Given the description of an element on the screen output the (x, y) to click on. 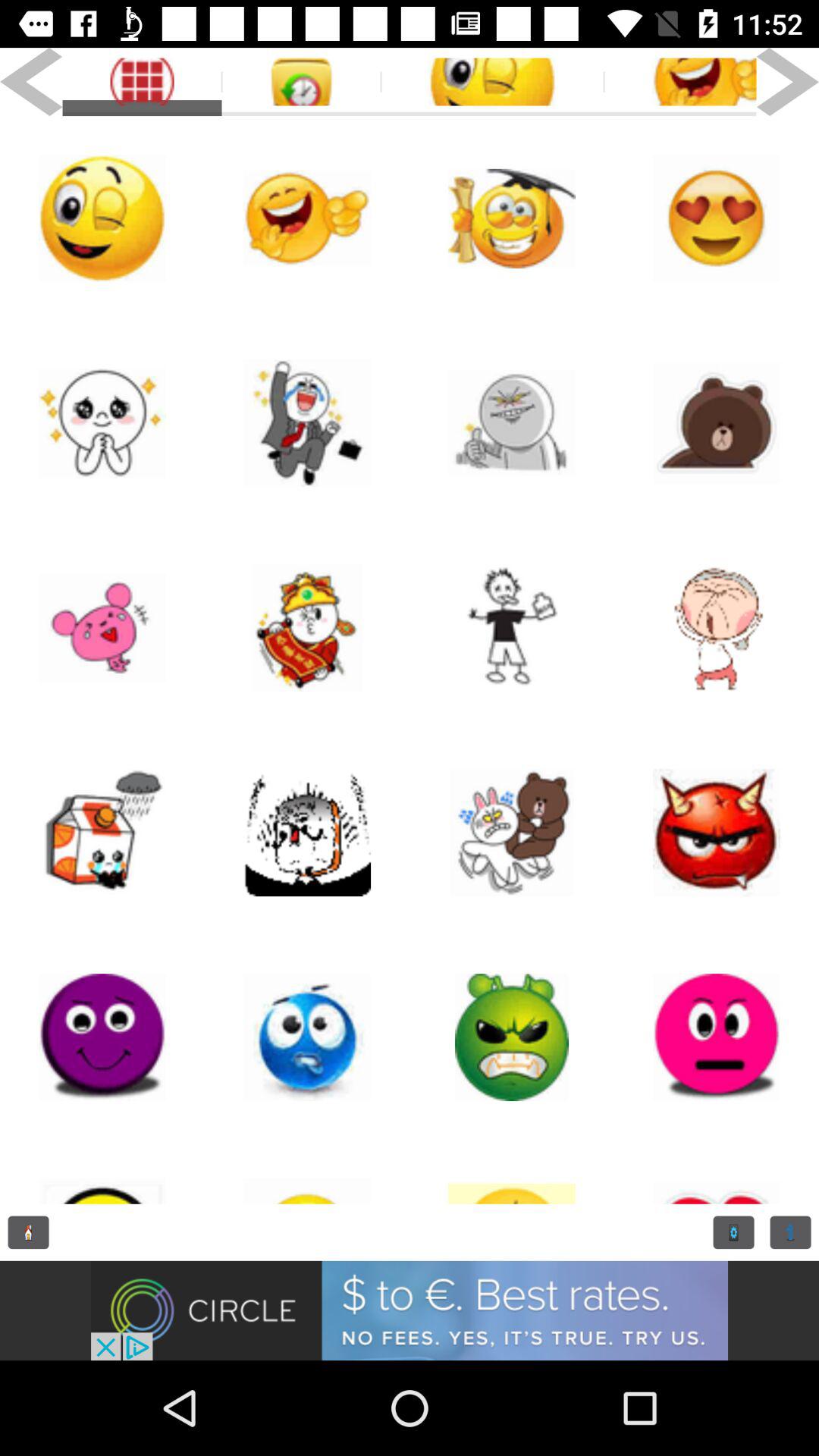
sticker (306, 627)
